Given the description of an element on the screen output the (x, y) to click on. 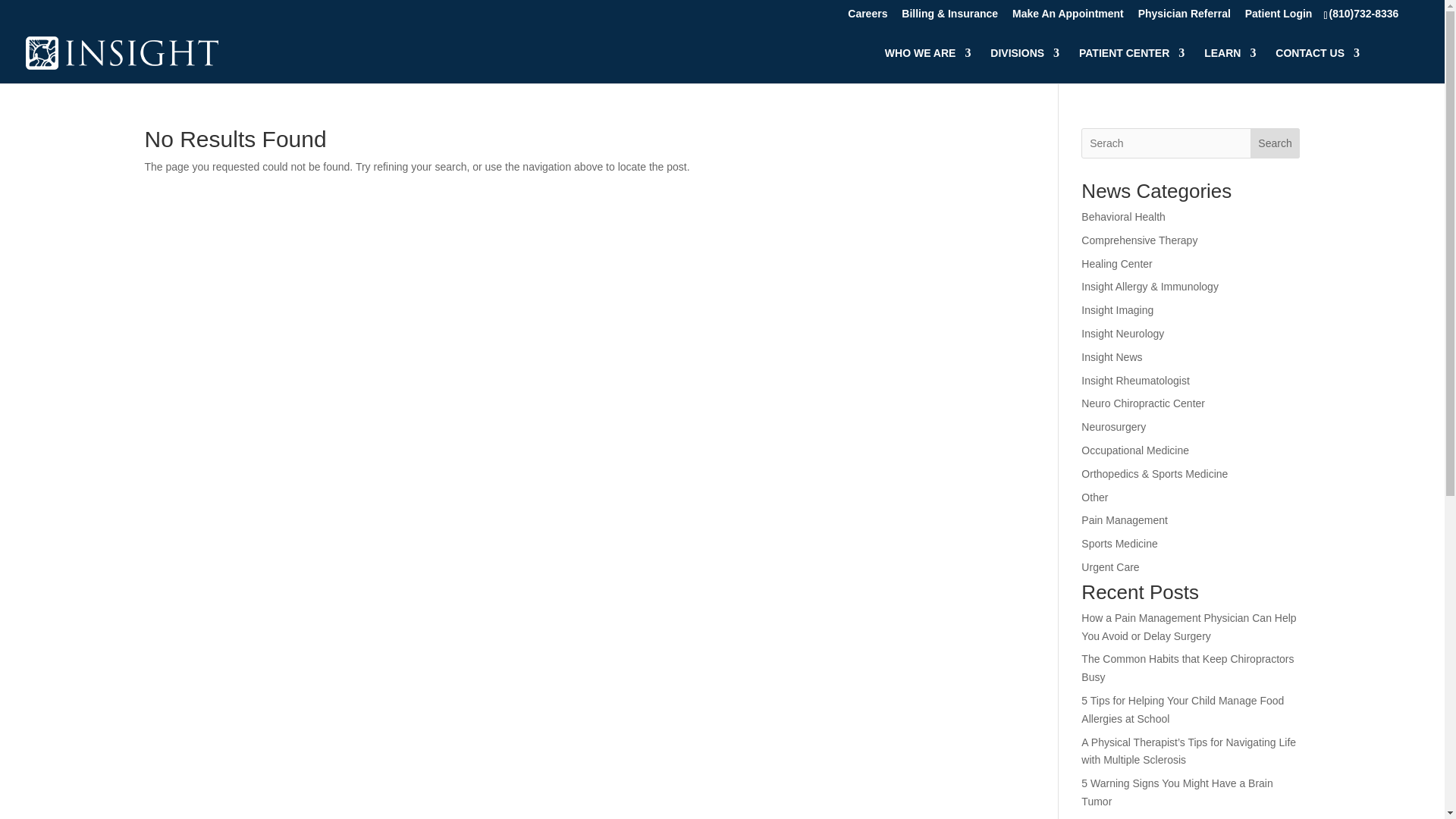
Careers (866, 16)
Physician Referral (1184, 16)
DIVISIONS (1024, 65)
Patient Login (1278, 16)
WHO WE ARE (928, 65)
Make An Appointment (1067, 16)
